Given the description of an element on the screen output the (x, y) to click on. 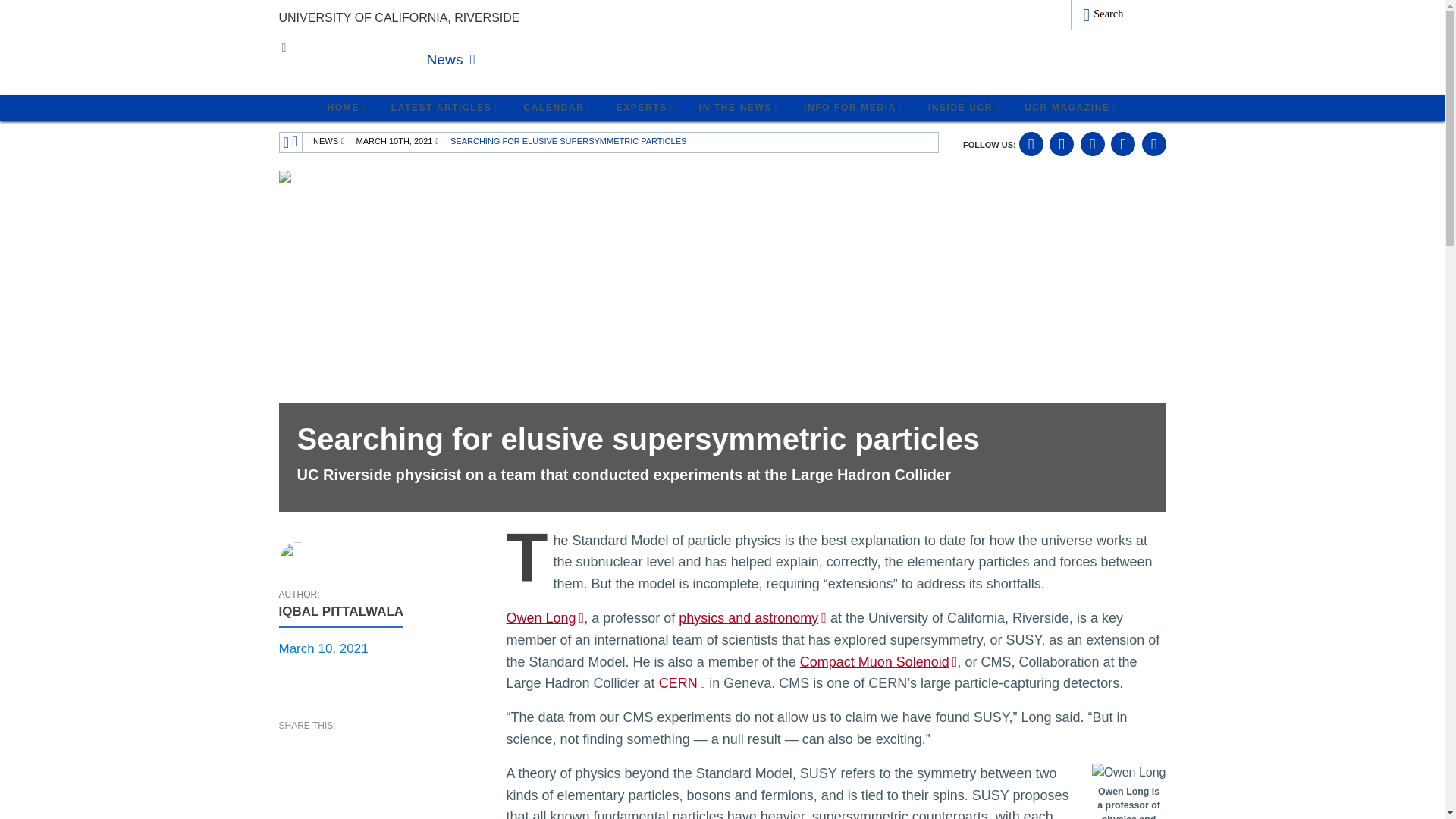
UCR Magazine (1070, 107)
News (450, 59)
UC Riverside TikTok (1153, 143)
UC Riverside YouTube (1092, 143)
EXPERTS (645, 107)
UCR MAGAZINE (1070, 107)
UC Riverside (355, 59)
IN THE NEWS (739, 107)
UNIVERSITY OF CALIFORNIA, RIVERSIDE (399, 17)
LATEST ARTICLES (445, 107)
Search (1118, 15)
INSIDE UCR (963, 107)
UC Riverside YouTube (1092, 143)
INFO FOR MEDIA (853, 107)
Owen Long (1129, 772)
